Given the description of an element on the screen output the (x, y) to click on. 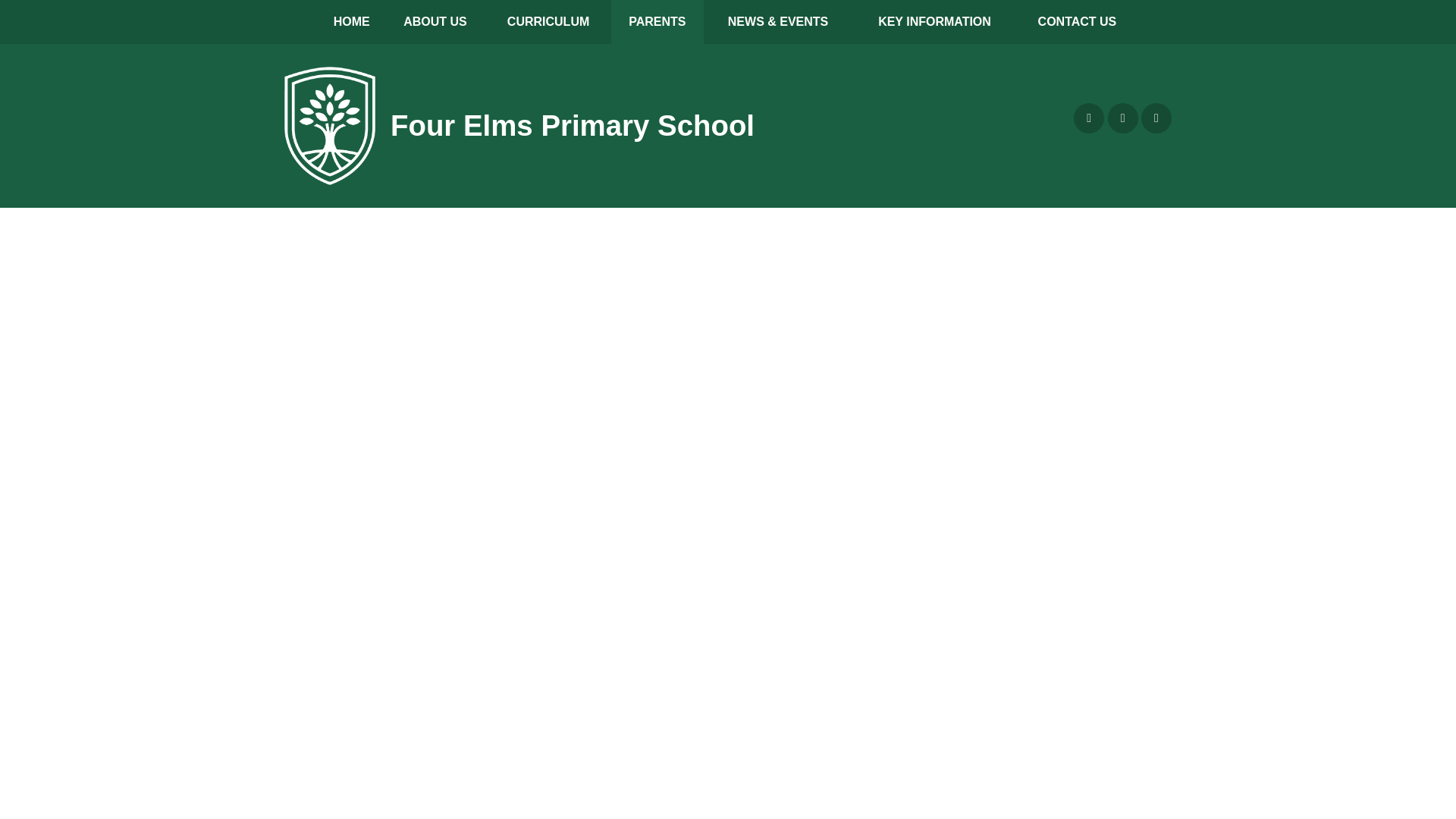
HOME (351, 22)
Admin Area (1123, 118)
CURRICULUM (548, 22)
ABOUT US (434, 22)
Facebook (1088, 118)
